Given the description of an element on the screen output the (x, y) to click on. 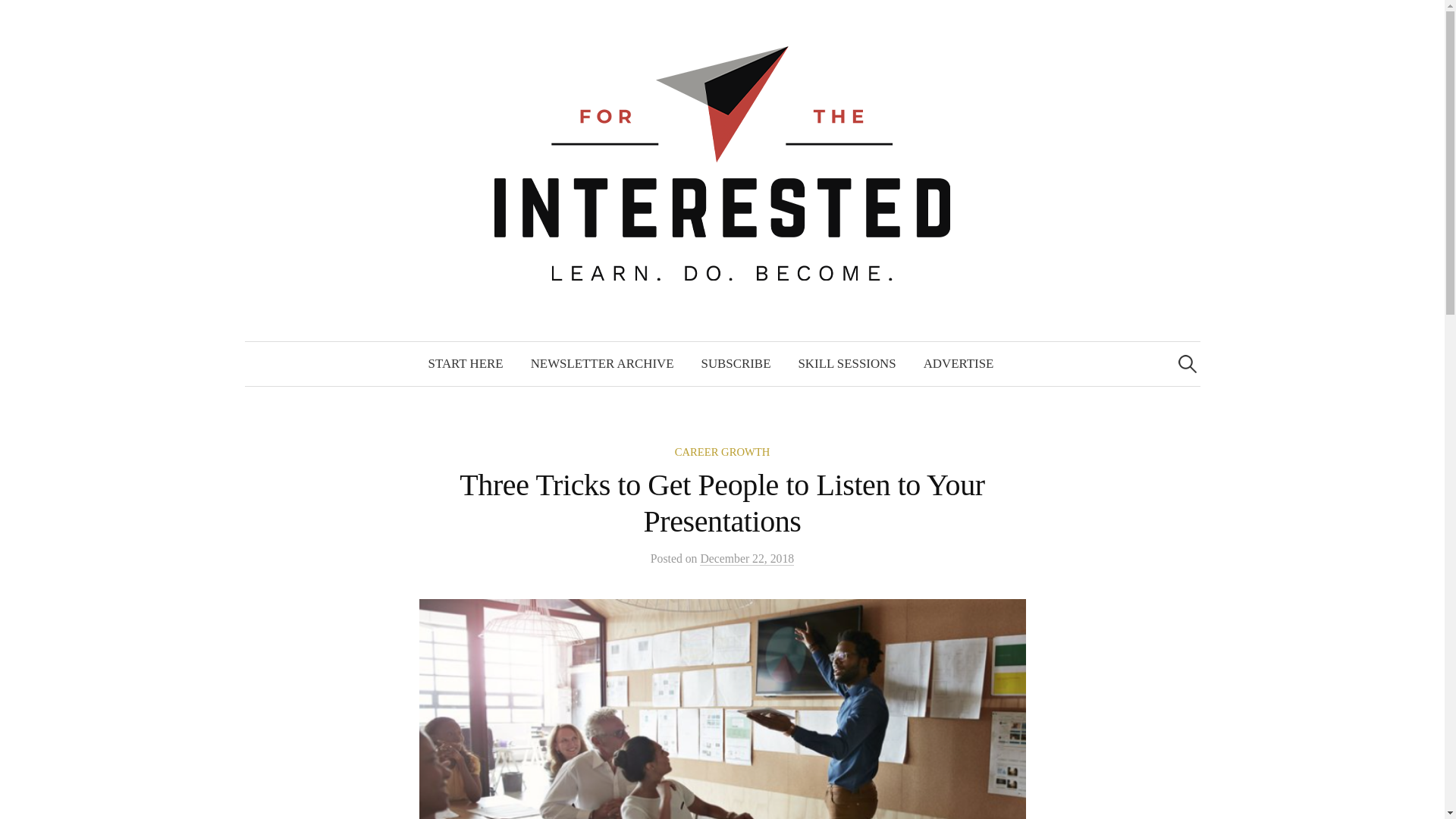
START HERE (465, 363)
Search (18, 18)
CAREER GROWTH (722, 451)
SUBSCRIBE (735, 363)
ADVERTISE (958, 363)
NEWSLETTER ARCHIVE (601, 363)
December 22, 2018 (746, 558)
SKILL SESSIONS (846, 363)
